Given the description of an element on the screen output the (x, y) to click on. 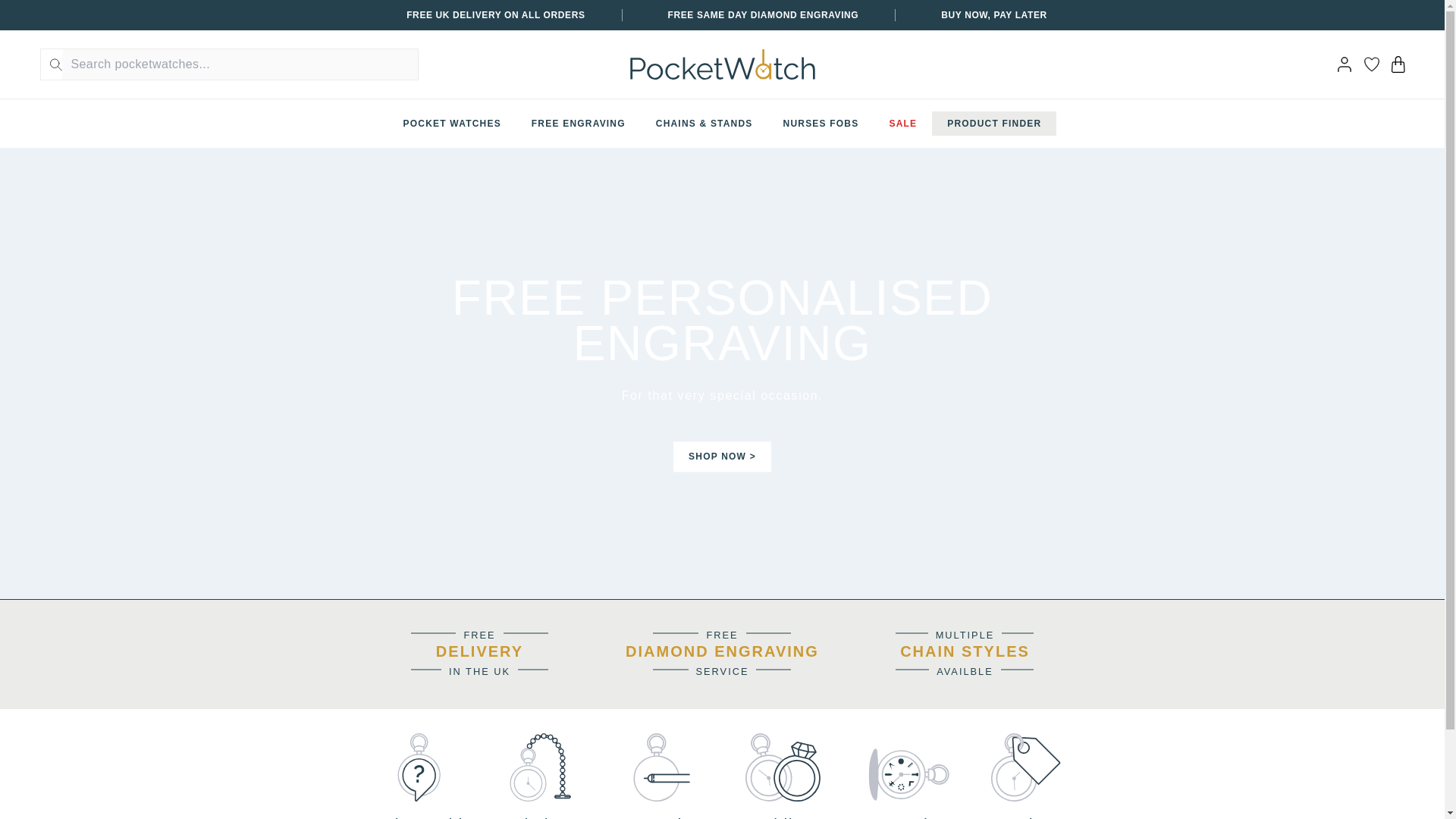
PRODUCT FINDER (994, 123)
POCKET WATCHES (452, 123)
NURSES FOBS (821, 123)
FREE ENGRAVING (578, 123)
SALE (902, 123)
